Given the description of an element on the screen output the (x, y) to click on. 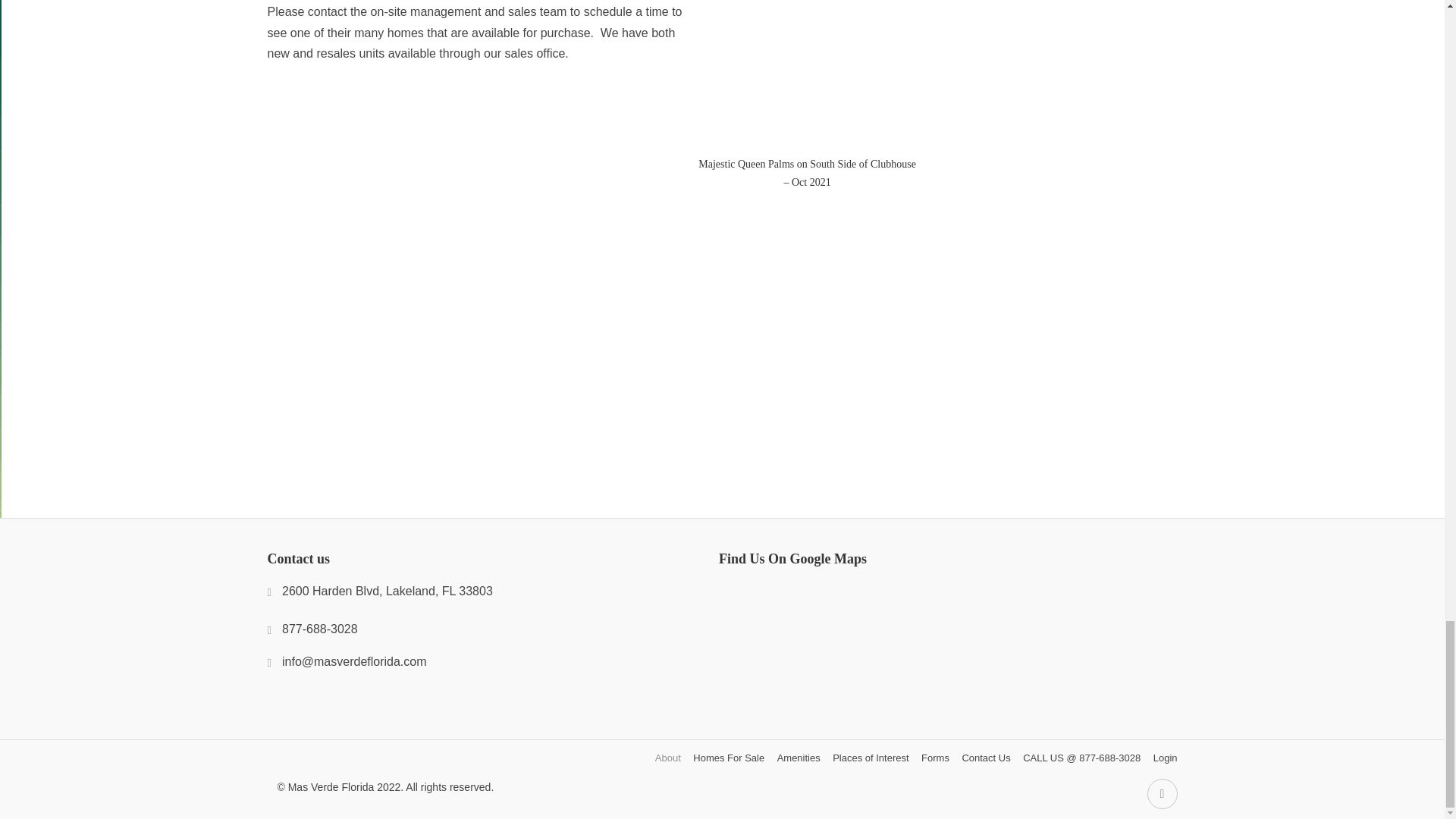
2600 Harden Blvd, Lakeland, FL 33803 (379, 590)
